Given the description of an element on the screen output the (x, y) to click on. 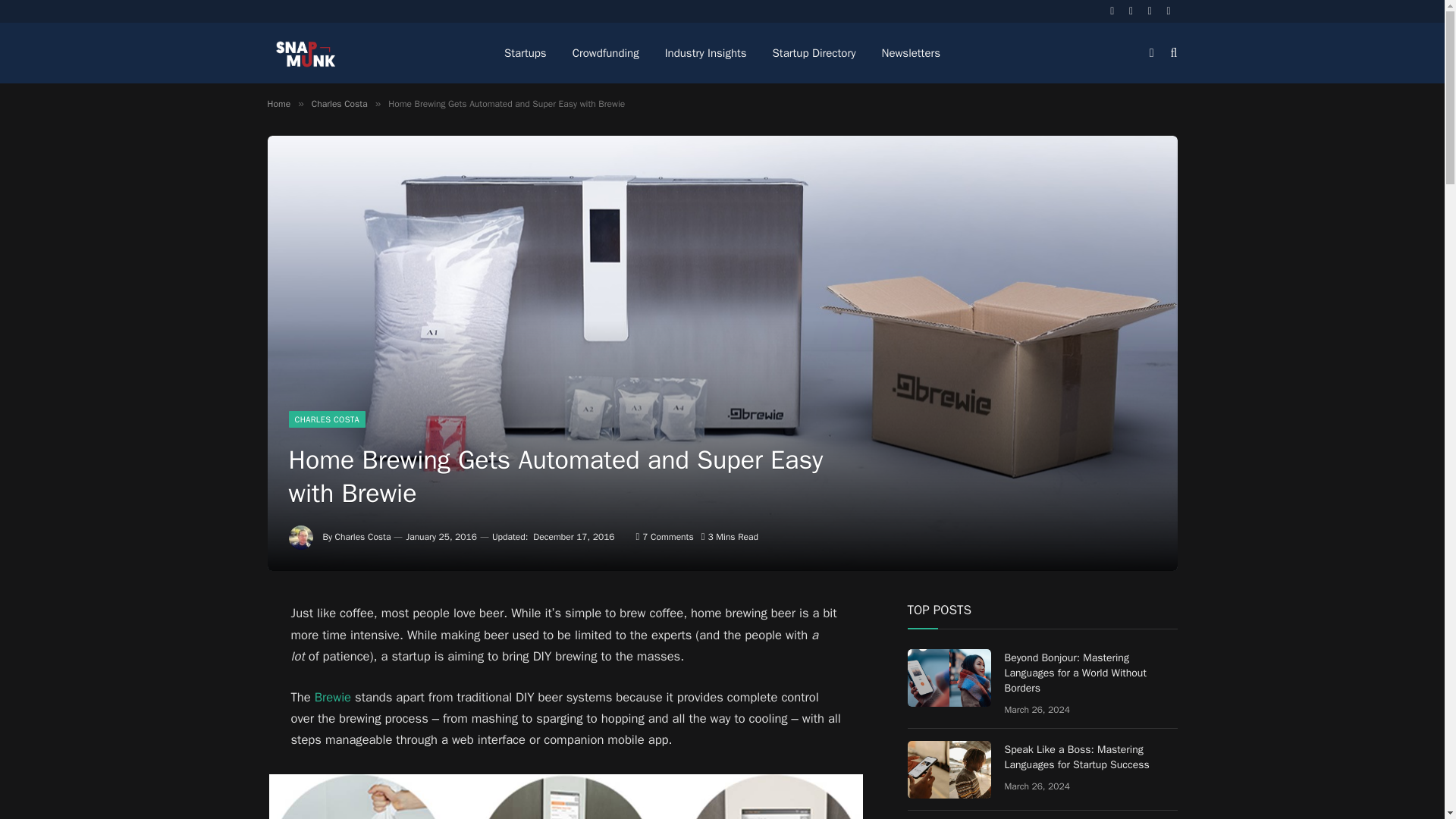
Home (277, 103)
Charles Costa (362, 536)
Startup Directory (814, 52)
7 Comments (665, 536)
Charles Costa (339, 103)
Crowdfunding (605, 52)
Startups (525, 52)
SnapMunk (304, 52)
Switch to Light Design. (1151, 52)
